Given the description of an element on the screen output the (x, y) to click on. 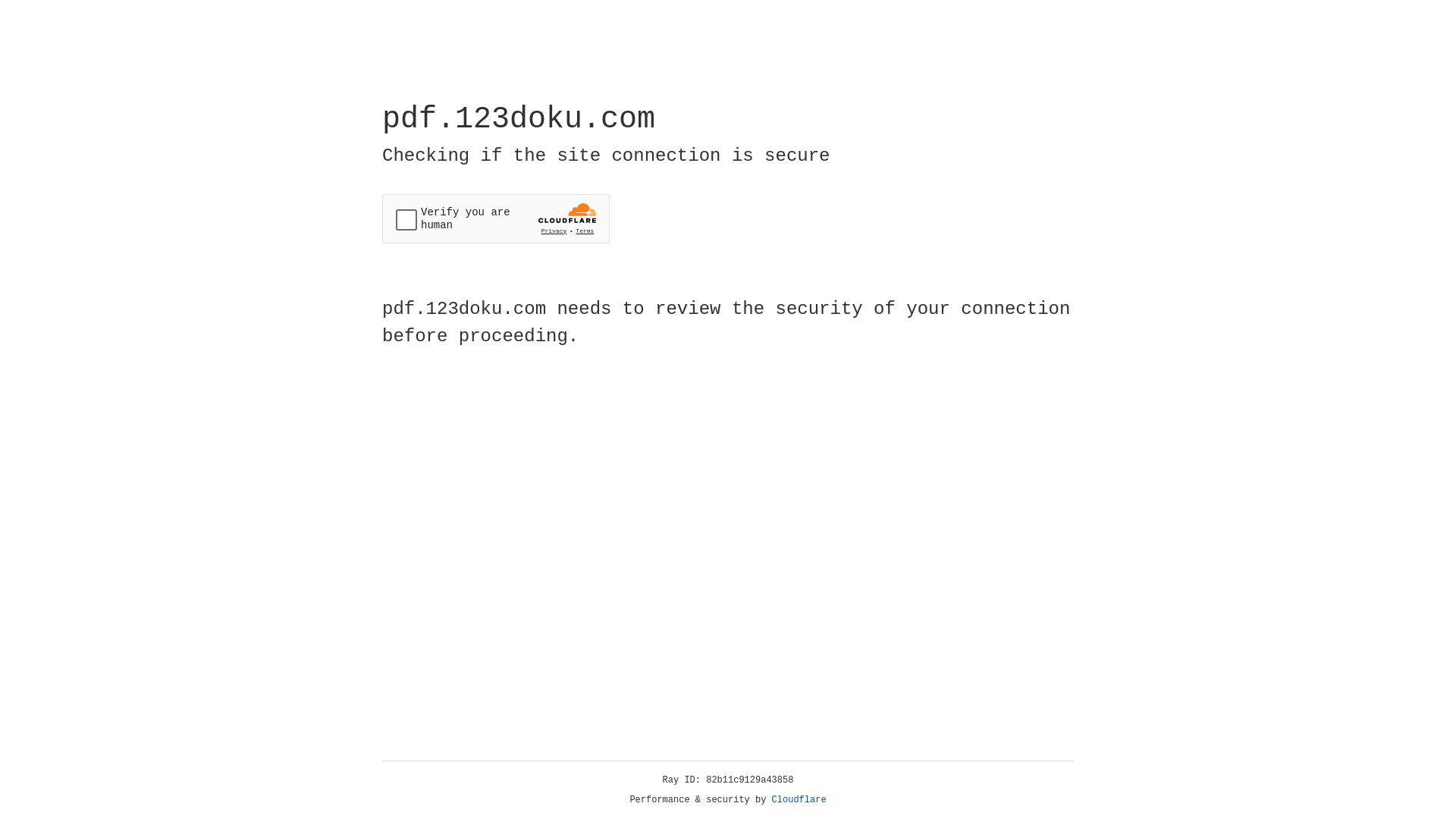
Cloudflare Element type: text (798, 799)
Widget containing a Cloudflare security challenge Element type: hover (495, 218)
